Given the description of an element on the screen output the (x, y) to click on. 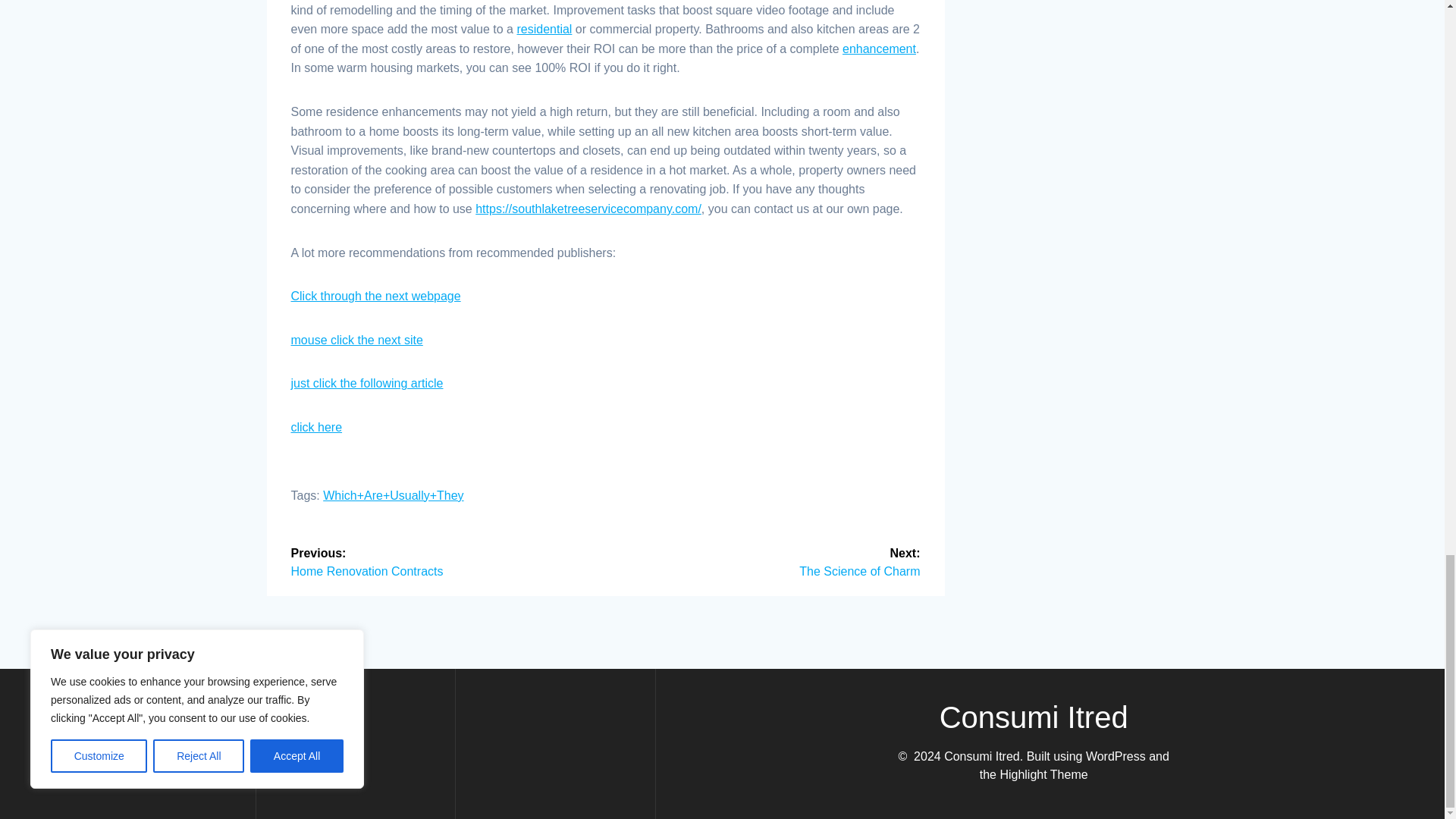
enhancement (879, 48)
mouse click the next site (357, 339)
click here (768, 561)
residential (316, 427)
Click through the next webpage (544, 29)
just click the following article (442, 561)
